Given the description of an element on the screen output the (x, y) to click on. 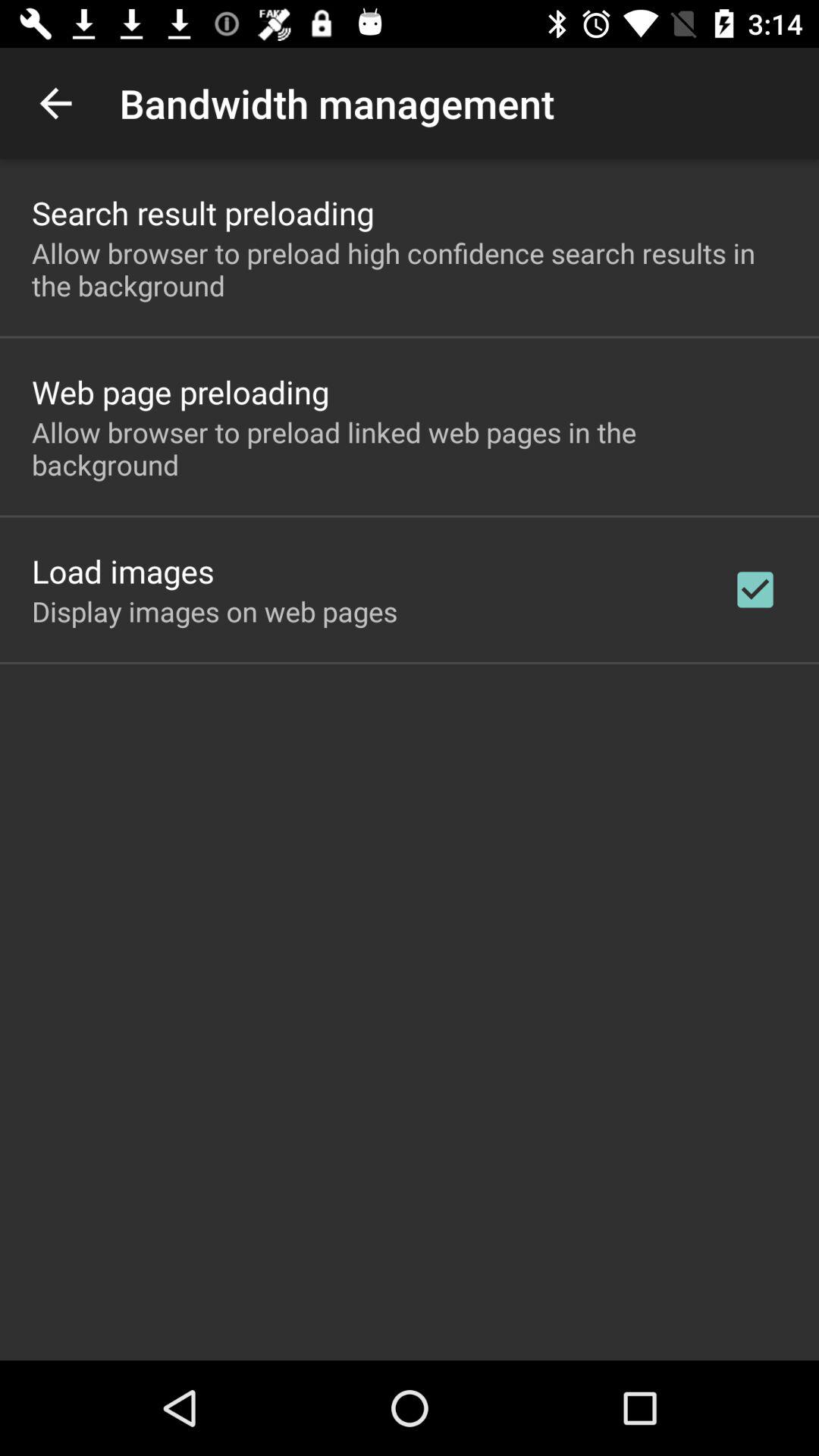
open item next to bandwidth management item (55, 103)
